Given the description of an element on the screen output the (x, y) to click on. 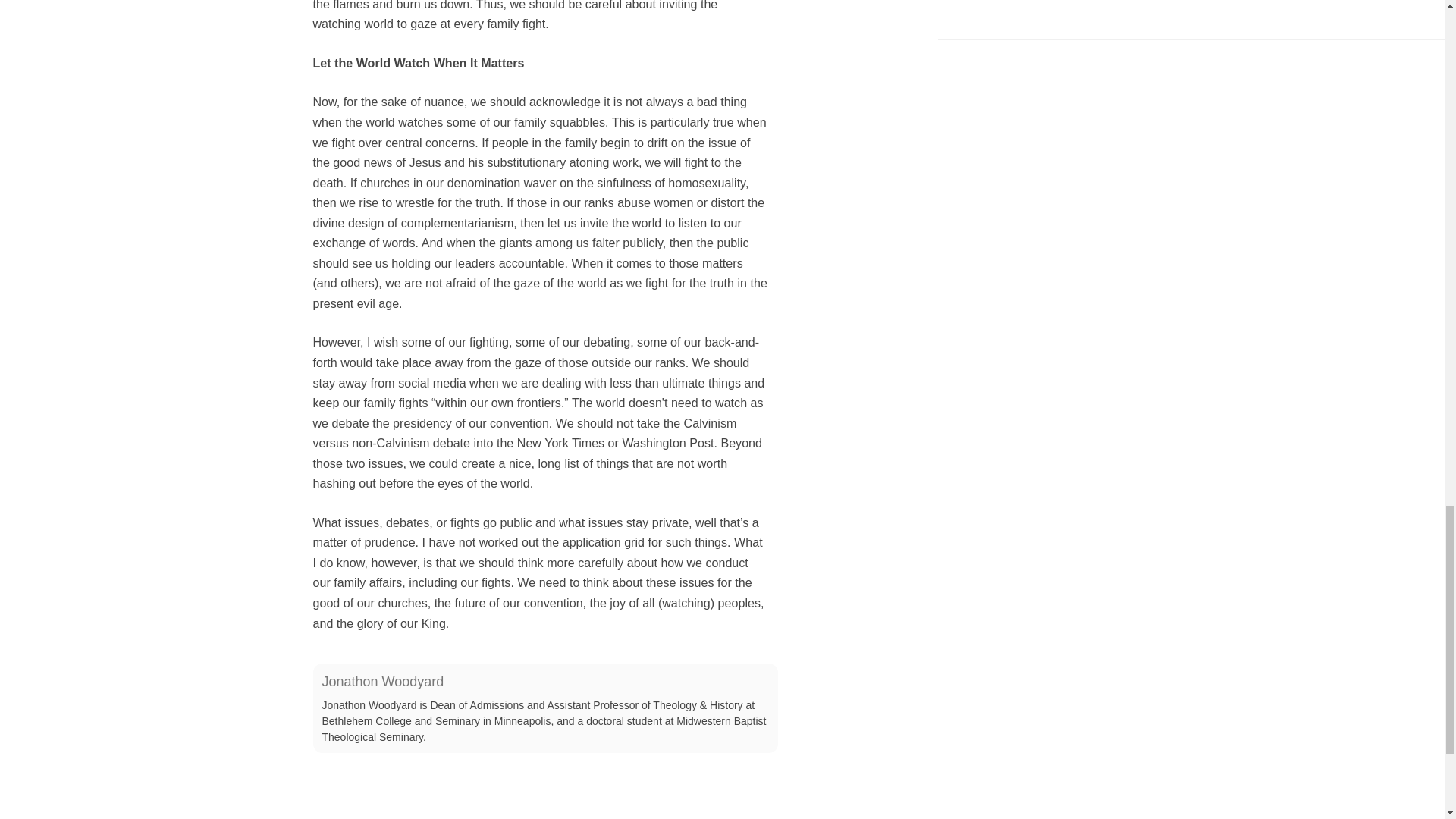
Jonathon Woodyard (382, 681)
